Given the description of an element on the screen output the (x, y) to click on. 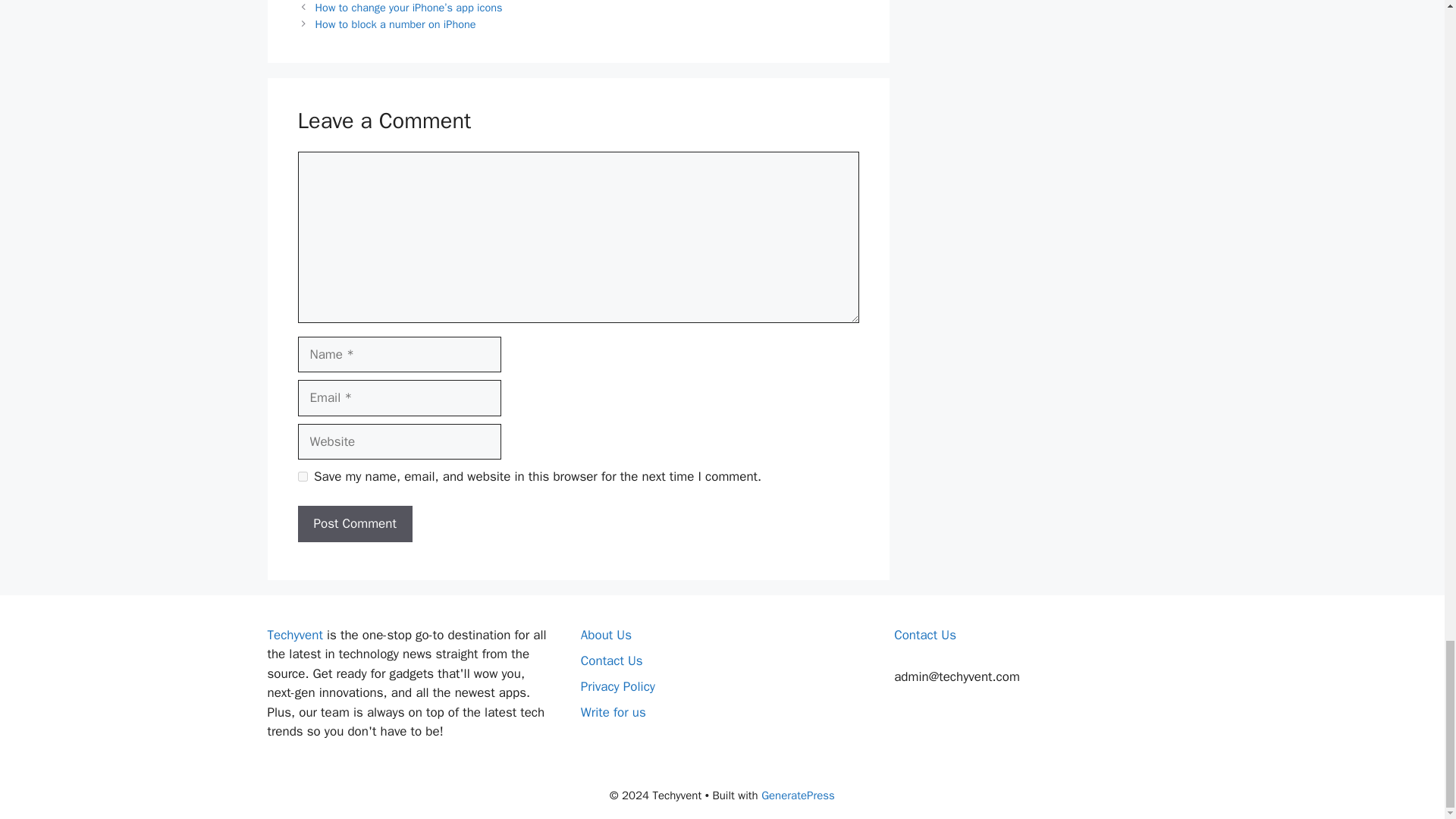
Privacy Policy (617, 686)
Write for us (613, 712)
Techyvent (293, 634)
Contact Us (611, 660)
GeneratePress (797, 794)
About Us (605, 634)
Post Comment (354, 524)
yes (302, 476)
Post Comment (354, 524)
How to block a number on iPhone (395, 24)
